Given the description of an element on the screen output the (x, y) to click on. 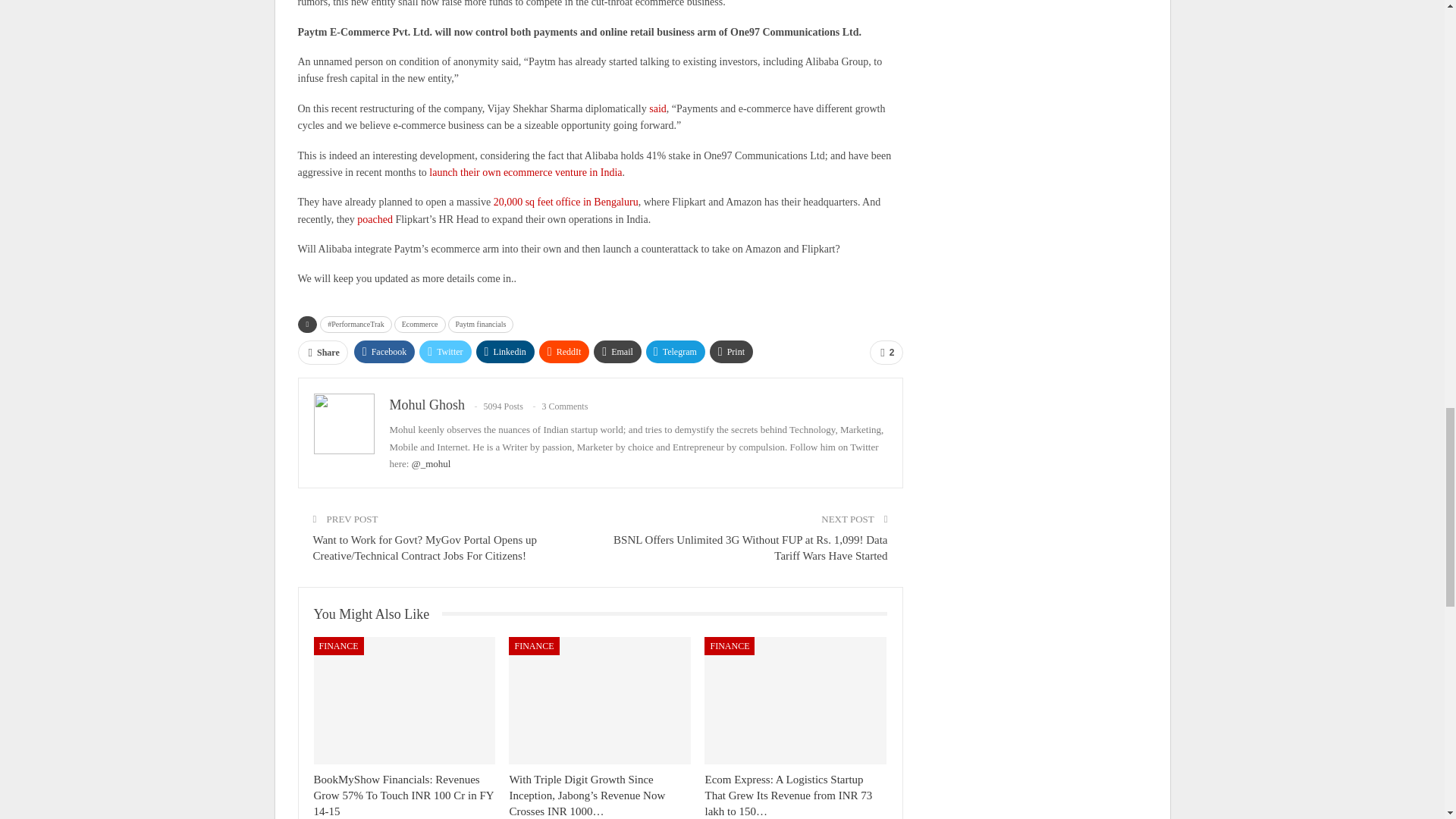
launch their own ecommerce venture in India (525, 172)
20,000 sq feet office in Bengaluru (566, 202)
said (657, 108)
